Given the description of an element on the screen output the (x, y) to click on. 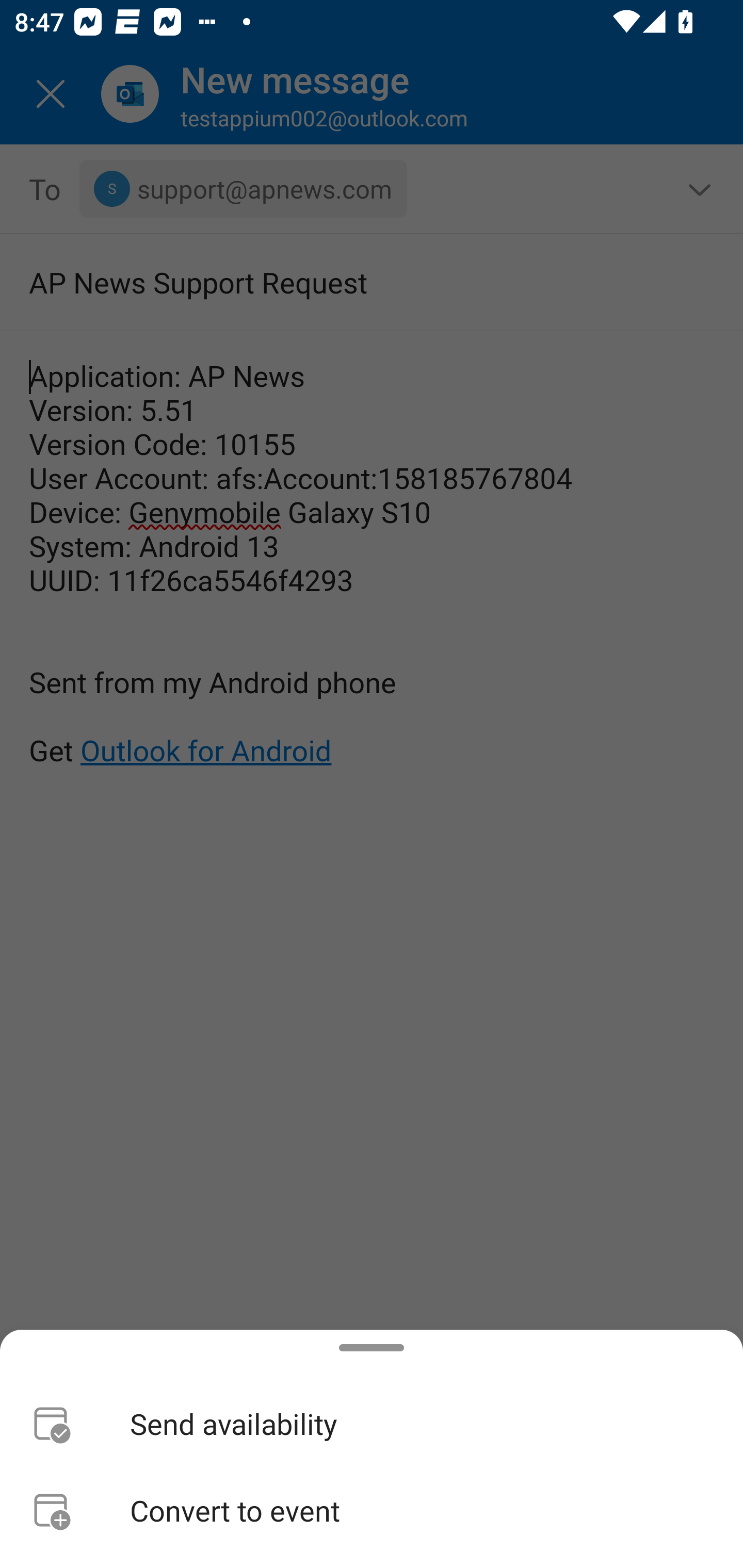
Send availability (371, 1423)
Convert to event (371, 1510)
